Given the description of an element on the screen output the (x, y) to click on. 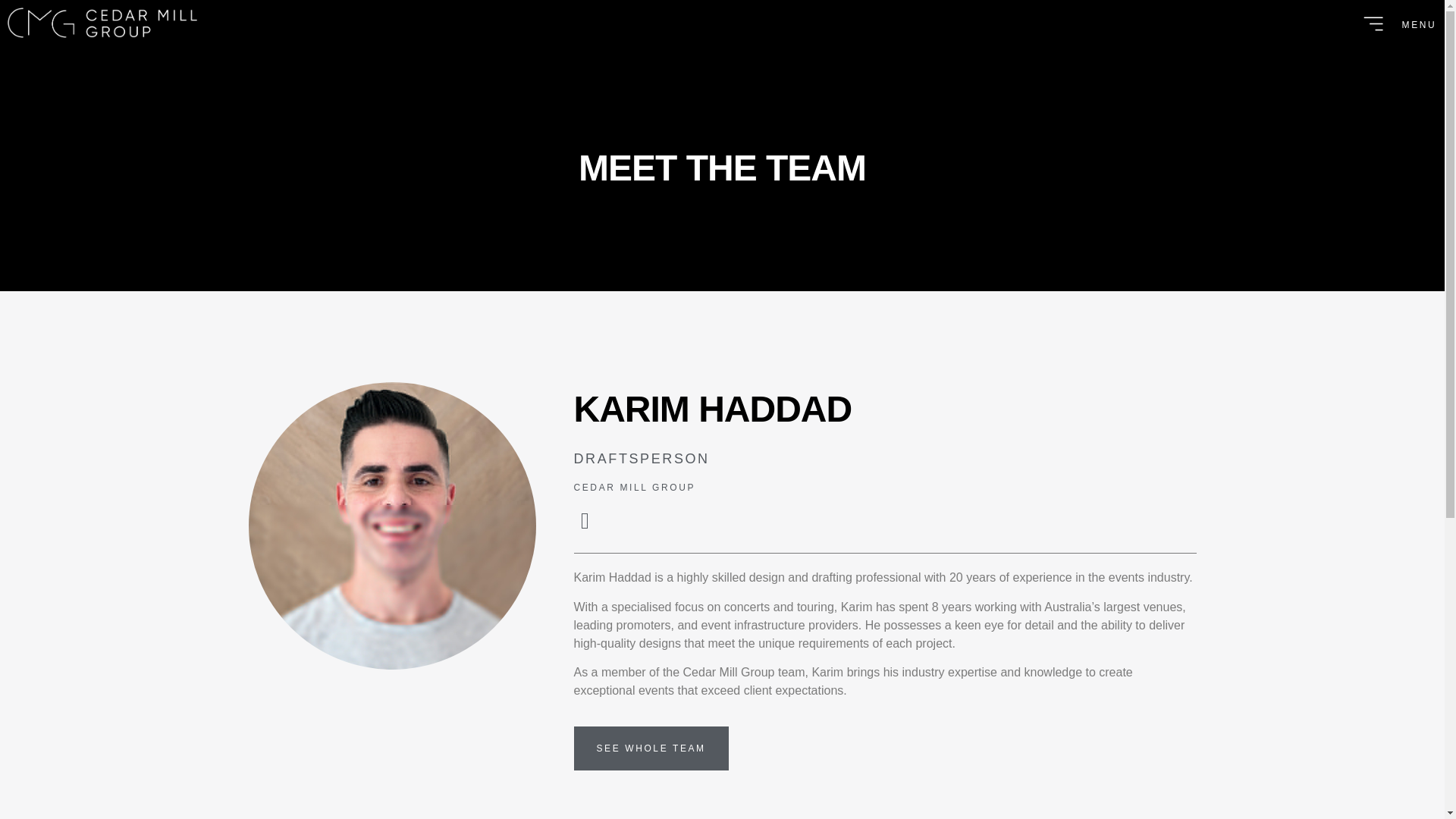
SEE WHOLE TEAM (650, 748)
